Given the description of an element on the screen output the (x, y) to click on. 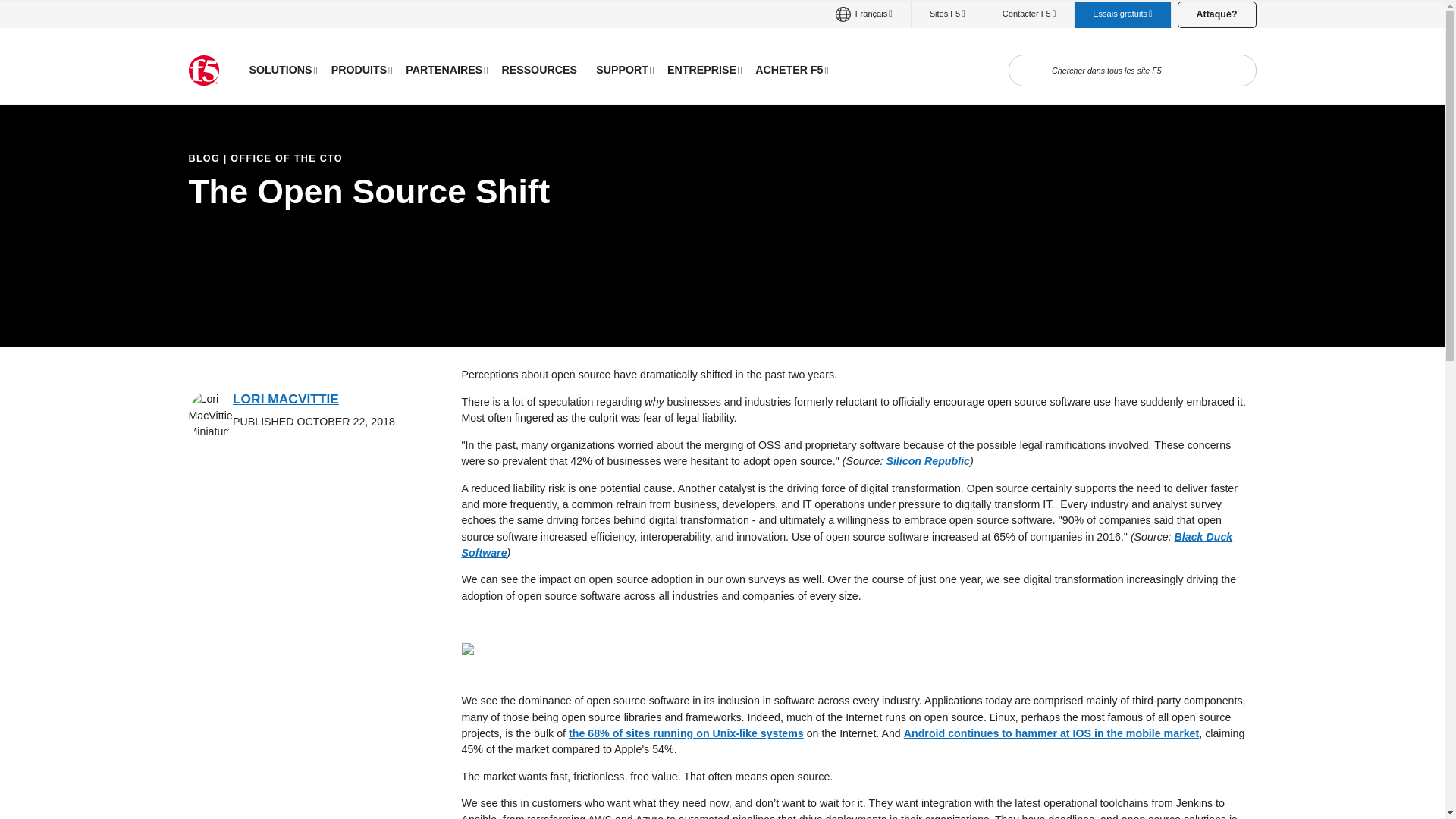
RESSOURCES (542, 69)
LORI MACVITTIE (285, 398)
Black Duck Software (846, 544)
Contacter F5 (1029, 13)
PARTENAIRES (446, 69)
Android continues to hammer at IOS in the mobile market (1051, 733)
PRODUITS (361, 69)
Sites F5 (947, 13)
F5 (202, 70)
Silicon Republic (927, 460)
Ouvrir la recherche (1033, 70)
SOLUTIONS (283, 69)
ACHETER F5 (791, 69)
Essais gratuits (1122, 13)
ENTREPRISE (704, 69)
